Given the description of an element on the screen output the (x, y) to click on. 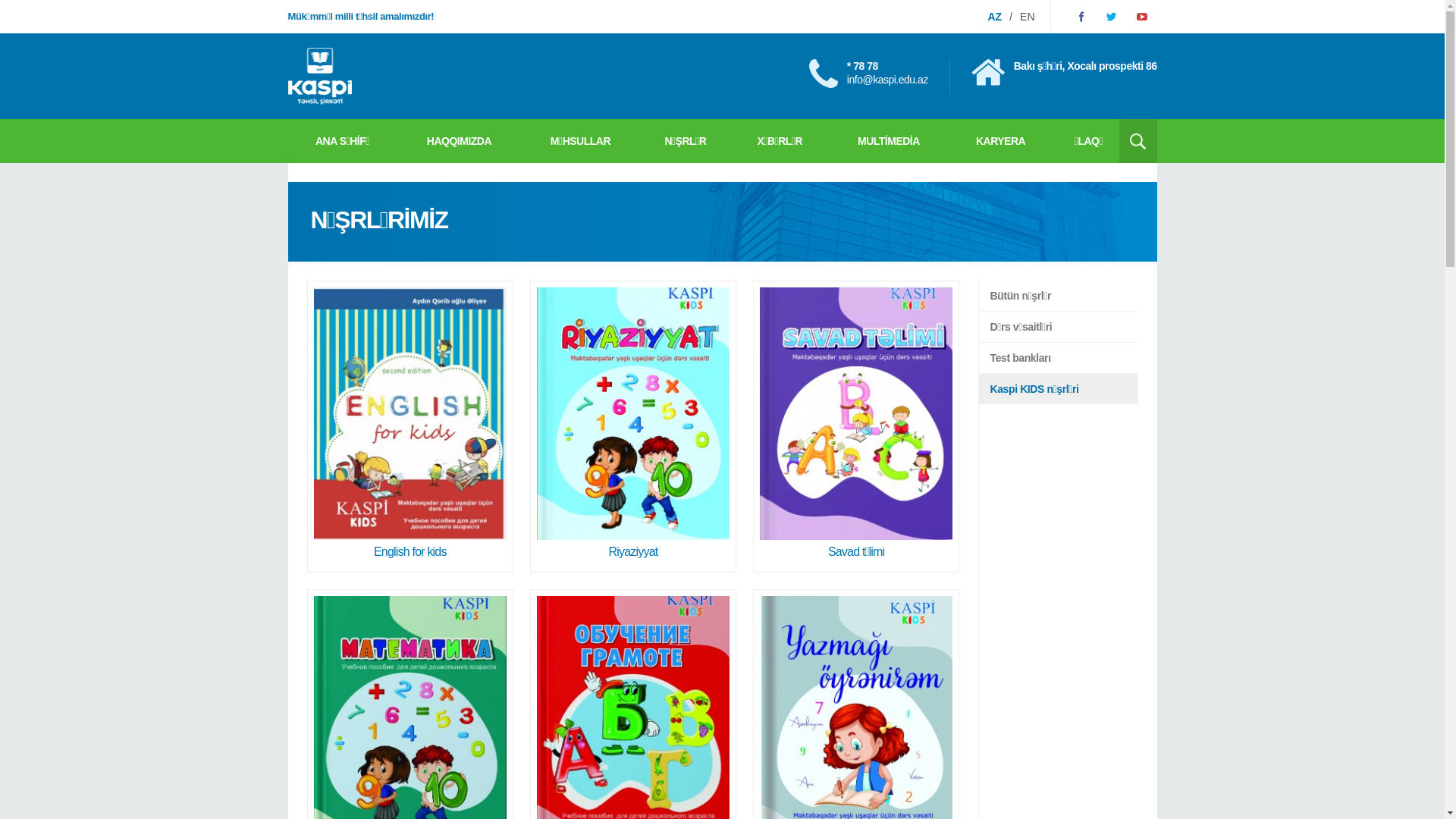
Search Element type: text (1138, 141)
info@kaspi.edu.az Element type: text (887, 79)
Kaspi Element type: text (319, 75)
AZ Element type: text (994, 16)
English for kids Element type: text (409, 426)
HAQQIMIZDA Element type: text (458, 141)
EN Element type: text (1026, 16)
KARYERA Element type: text (1000, 141)
Riyaziyyat Element type: text (633, 426)
